Given the description of an element on the screen output the (x, y) to click on. 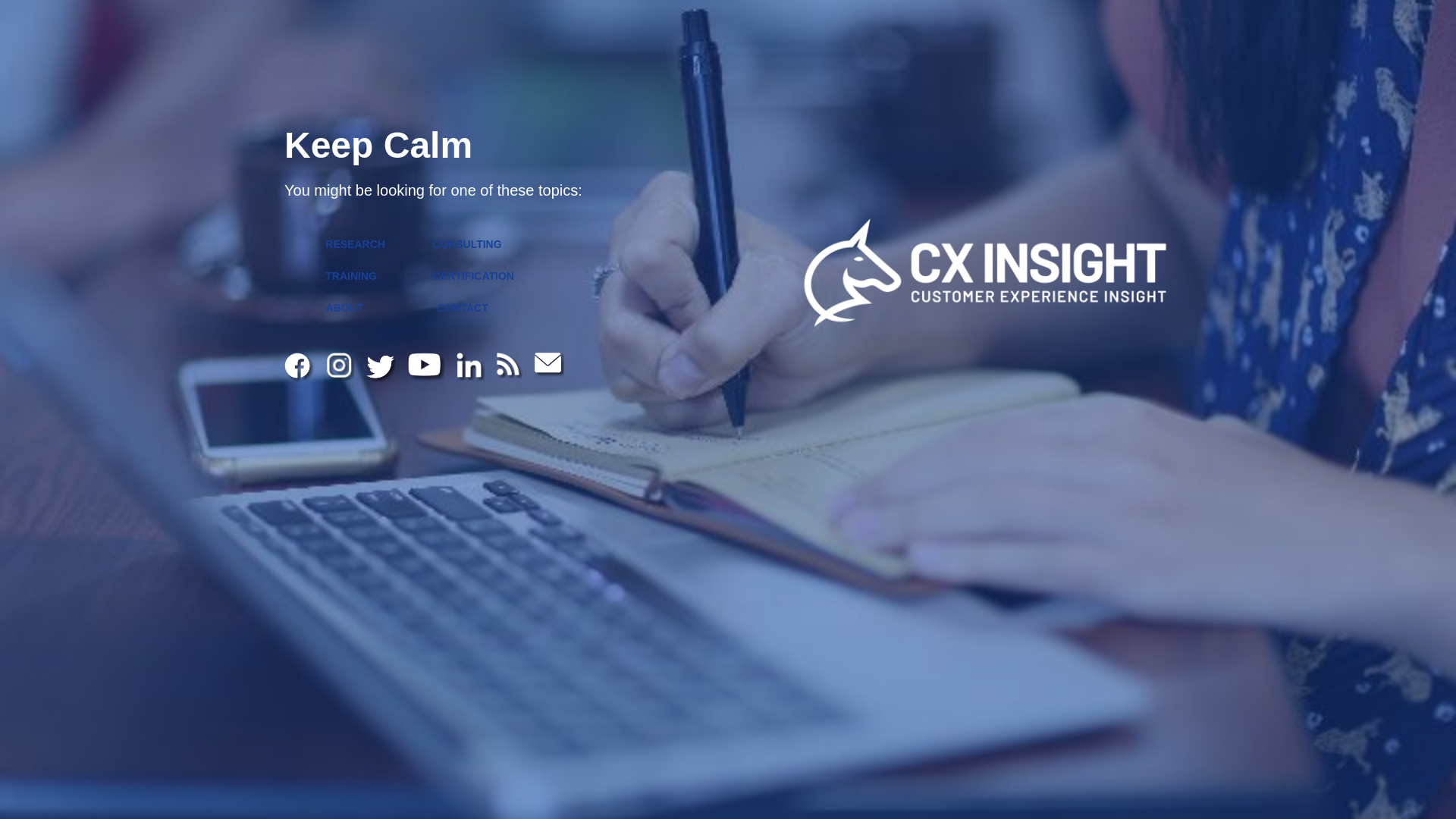
RESEARCH Element type: text (355, 244)
TRAINING Element type: text (350, 275)
CERTIFICATION Element type: text (473, 275)
CONTACT Element type: text (461, 307)
CONSULTING Element type: text (467, 244)
ABOUT Element type: text (344, 307)
